Given the description of an element on the screen output the (x, y) to click on. 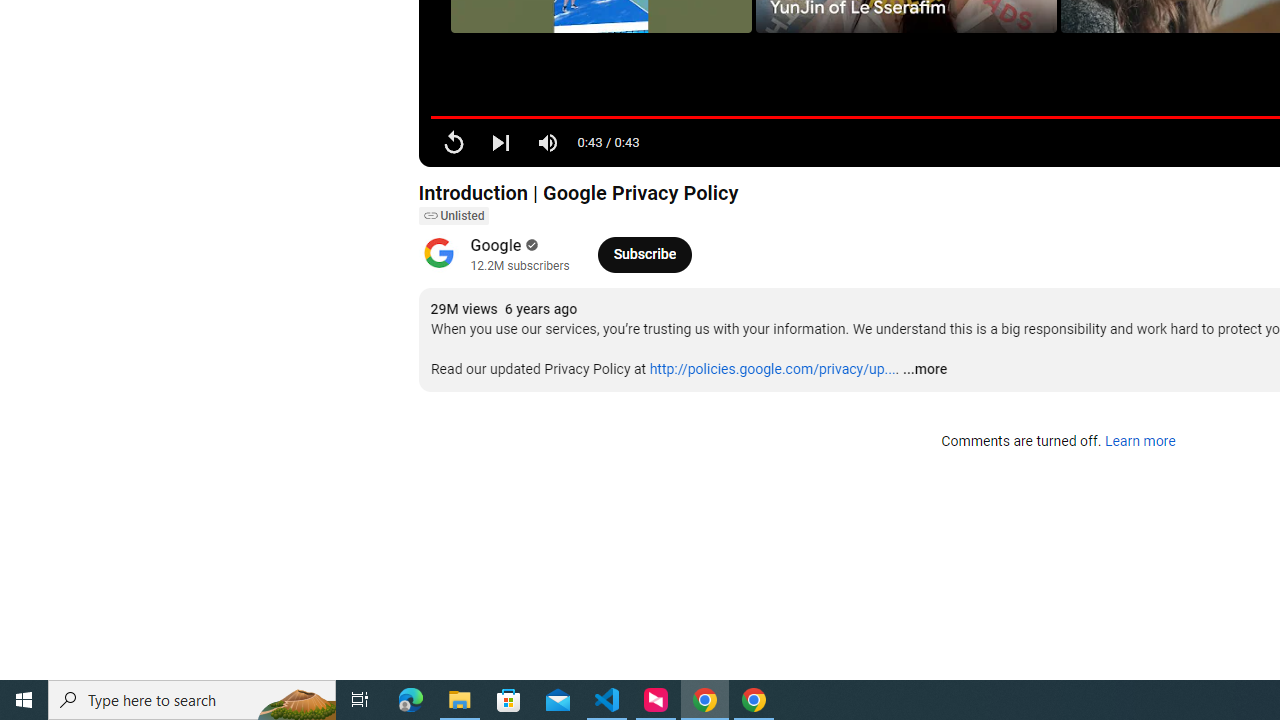
Unlisted (453, 216)
Mute (m) (548, 142)
Pause (k) (453, 142)
Next (SHIFT+n) (500, 142)
Subscribe to Google. (644, 254)
Learn more (1139, 442)
...more (924, 370)
http://policies.google.com/privacy/up... (772, 369)
